Given the description of an element on the screen output the (x, y) to click on. 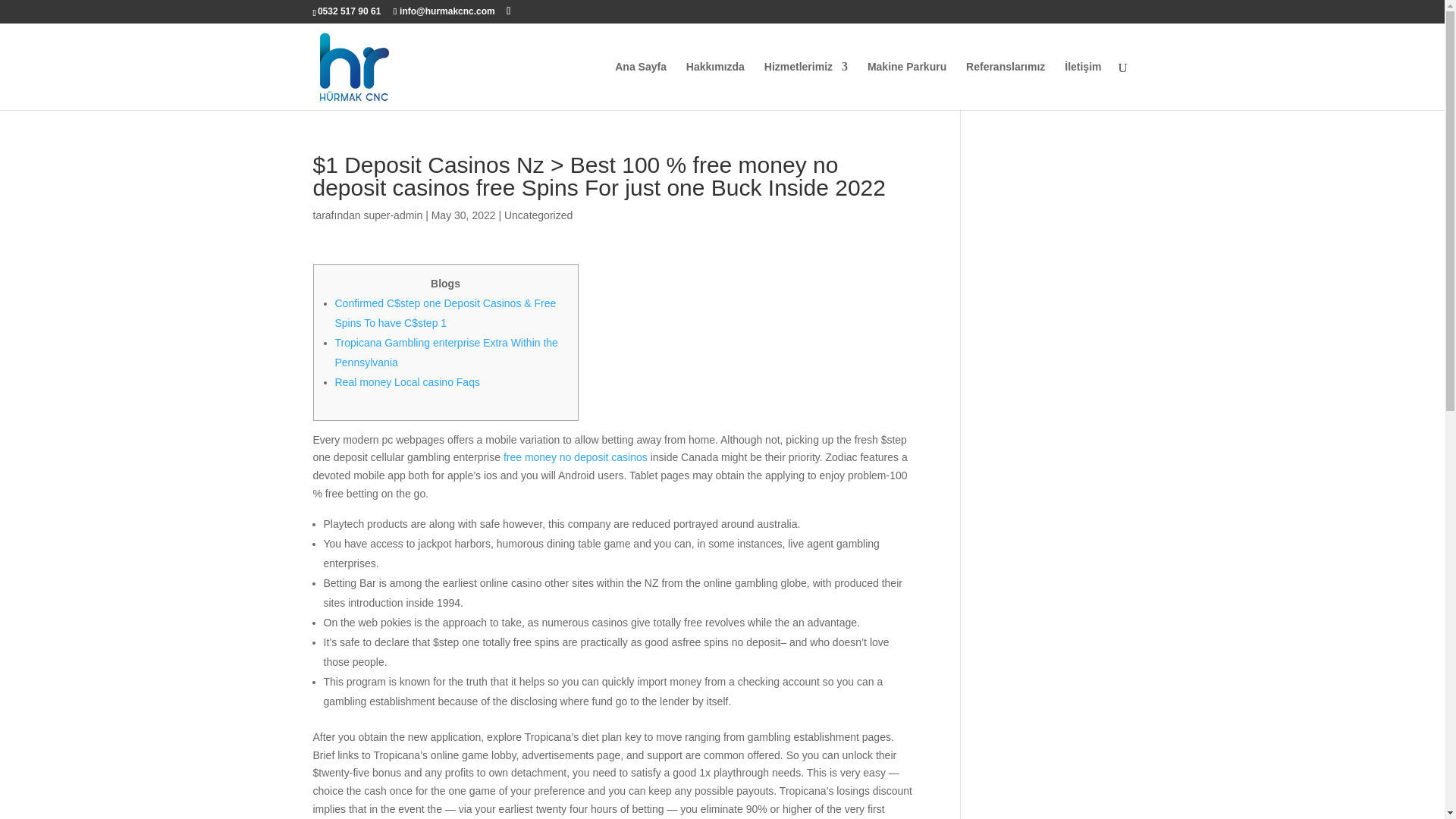
Makine Parkuru (906, 85)
super-admin (392, 215)
Real money Local casino Faqs (407, 381)
Ana Sayfa (640, 85)
Tropicana Gambling enterprise Extra Within the Pennsylvania (445, 352)
Hizmetlerimiz (805, 85)
Uncategorized (537, 215)
free money no deposit casinos (575, 457)
